Given the description of an element on the screen output the (x, y) to click on. 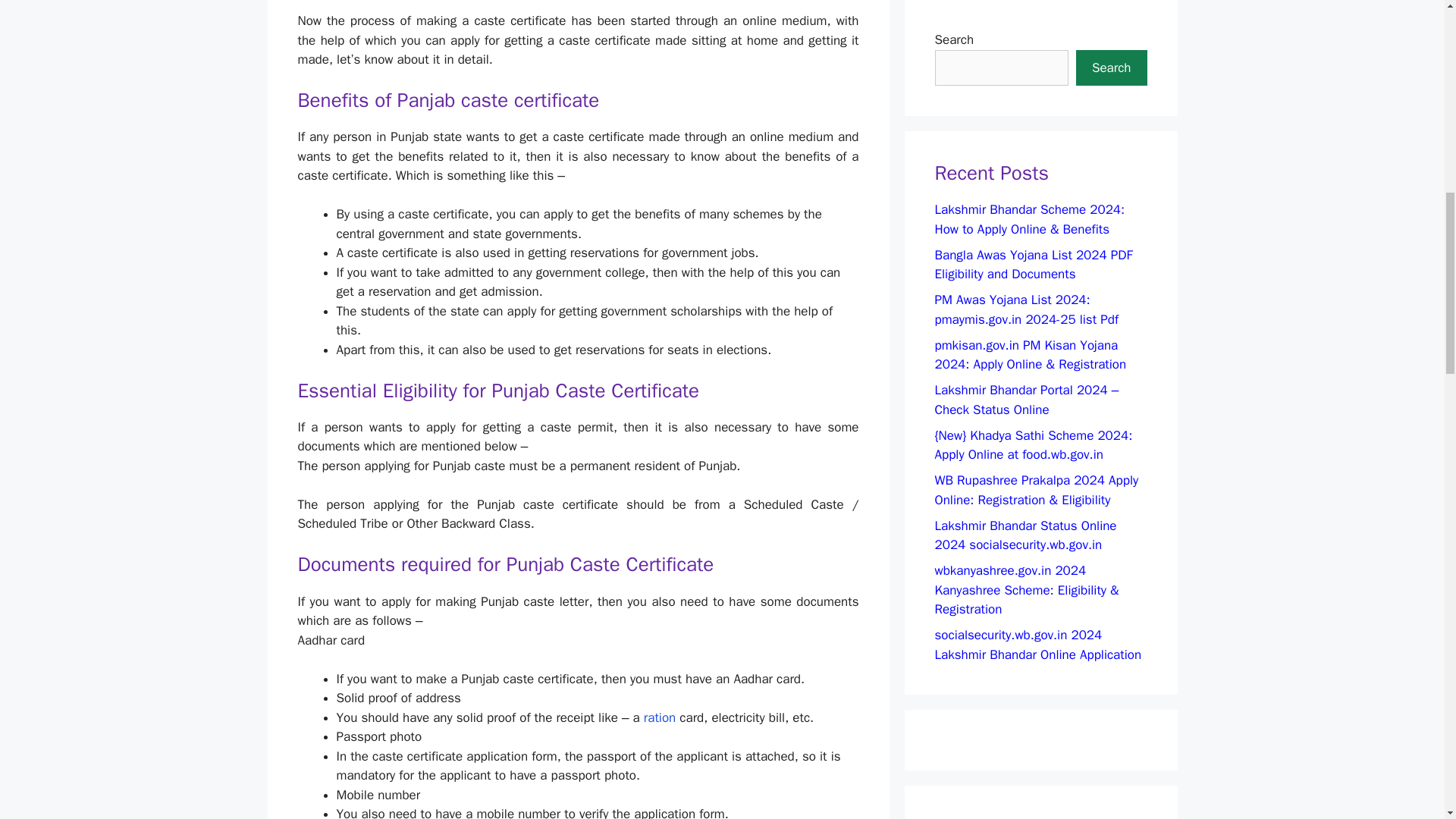
ration (659, 717)
ration (659, 717)
